Given the description of an element on the screen output the (x, y) to click on. 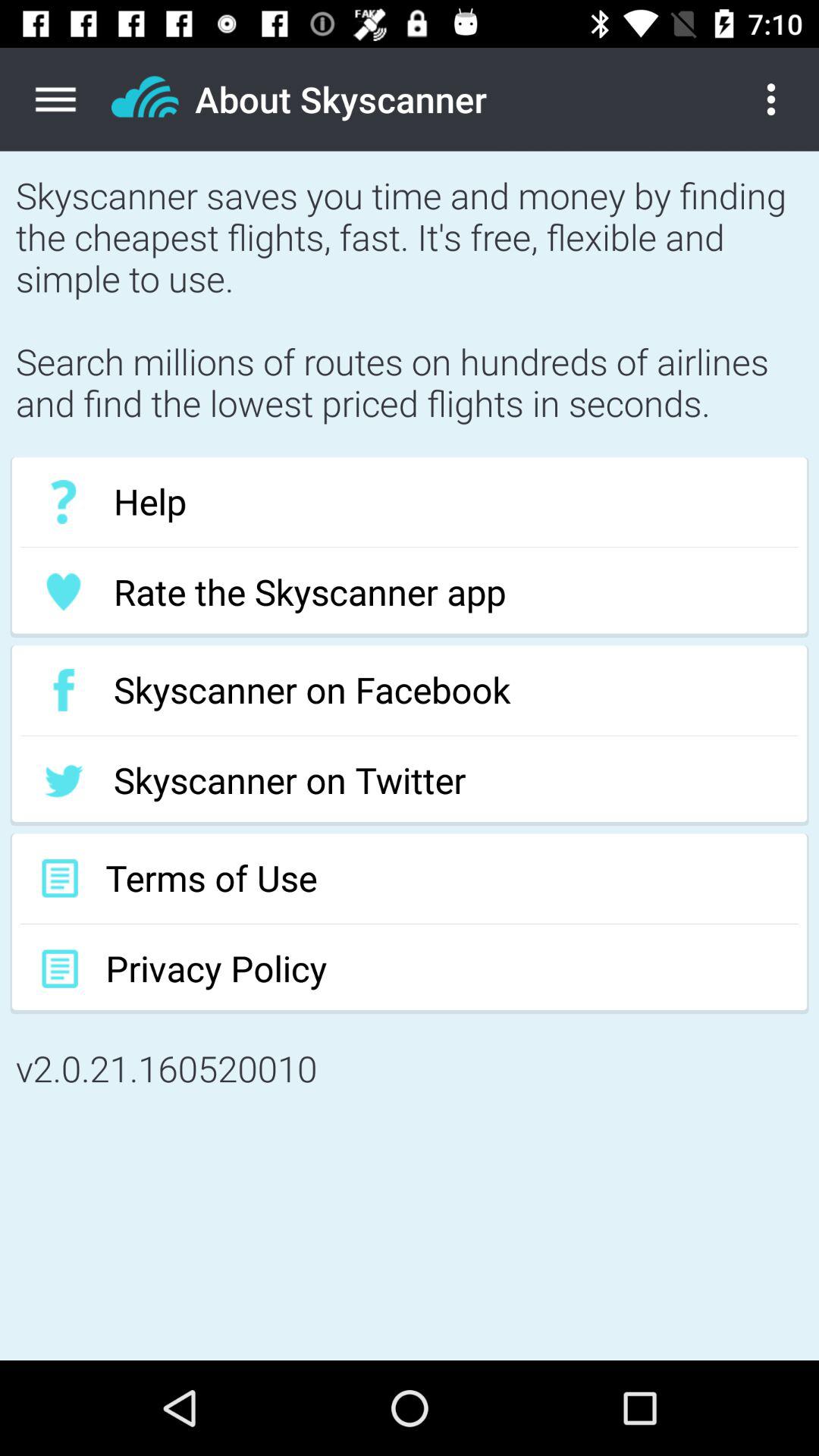
choose item below skyscanner saves you item (409, 502)
